Given the description of an element on the screen output the (x, y) to click on. 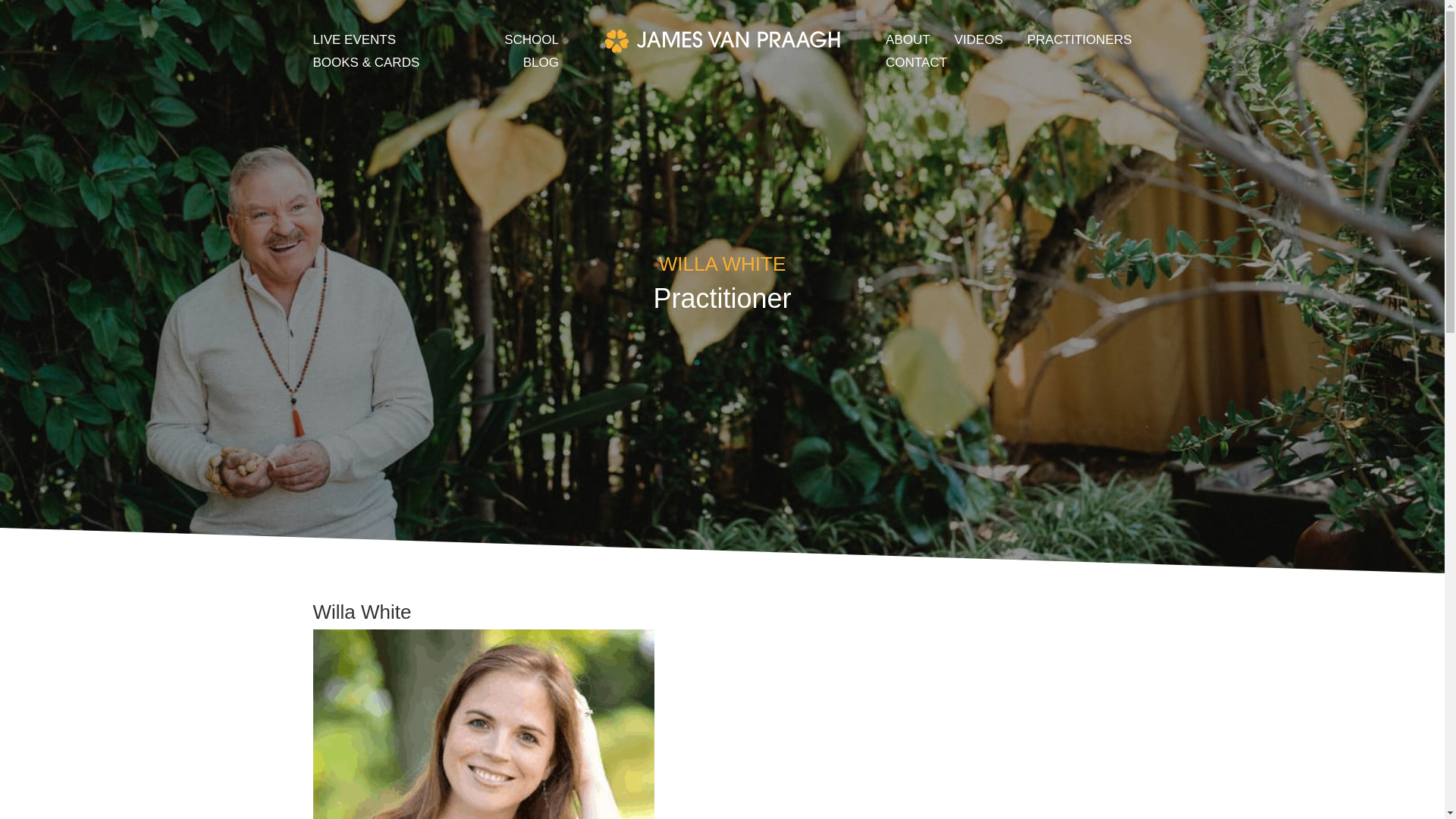
ABOUT (907, 43)
BLOG (540, 65)
CONTACT (916, 65)
LIVE EVENTS (354, 43)
SCHOOL (531, 43)
PRACTITIONERS (1079, 43)
VIDEOS (978, 43)
Willa-White (483, 724)
